Given the description of an element on the screen output the (x, y) to click on. 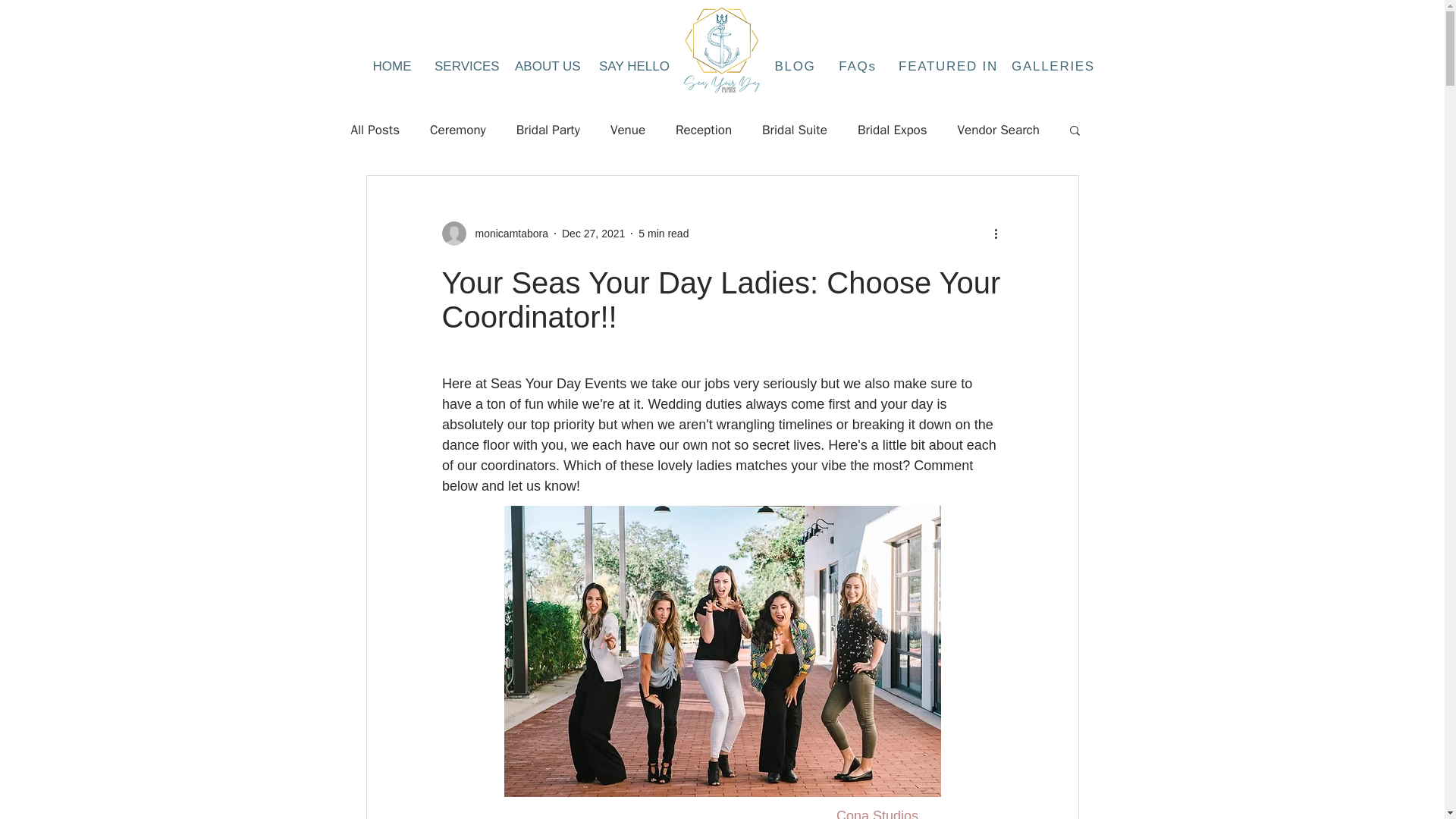
Reception (703, 129)
Bridal Suite (794, 129)
Ceremony (457, 129)
FAQs (859, 66)
Bridal Expos (892, 129)
Vendor Search (998, 129)
BLOG (796, 66)
Dec 27, 2021 (593, 233)
All Posts (374, 129)
HOME (392, 66)
monicamtabora (506, 233)
Bridal Party (547, 129)
Cona Studios (876, 813)
GALLERIES (1055, 66)
monicamtabora (494, 233)
